Given the description of an element on the screen output the (x, y) to click on. 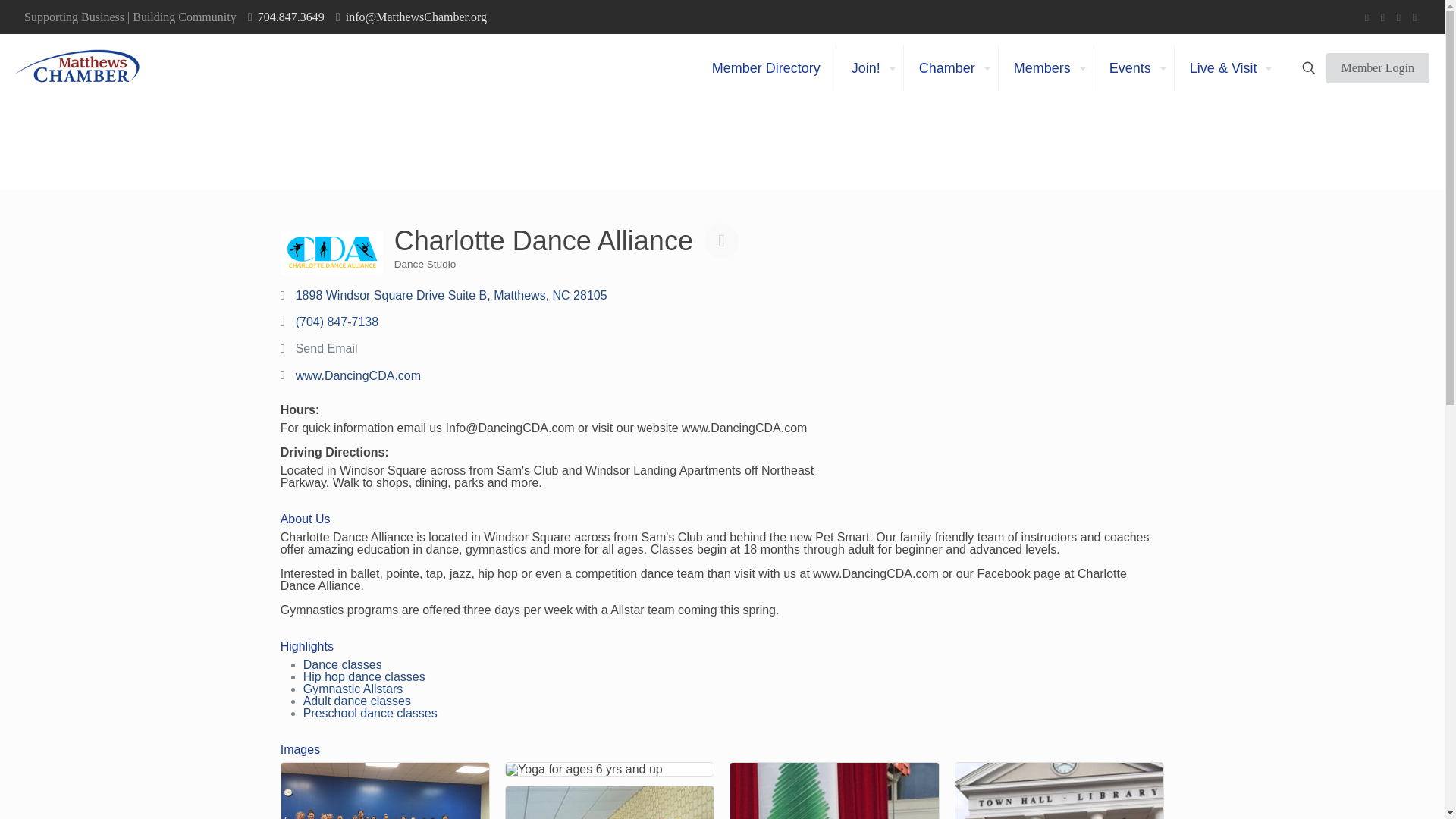
Members (1046, 68)
Events (1134, 68)
Charlotte Dance Alliance competition team  (385, 790)
Member Directory (766, 68)
Charlotte Dance Alliance (331, 252)
LinkedIn (1399, 17)
Matthews Chamber of Commerce, Matthews, NC (76, 68)
Instagram (1415, 17)
Facebook (1367, 17)
Students offered job opportunities outside of the studio  (609, 802)
